Given the description of an element on the screen output the (x, y) to click on. 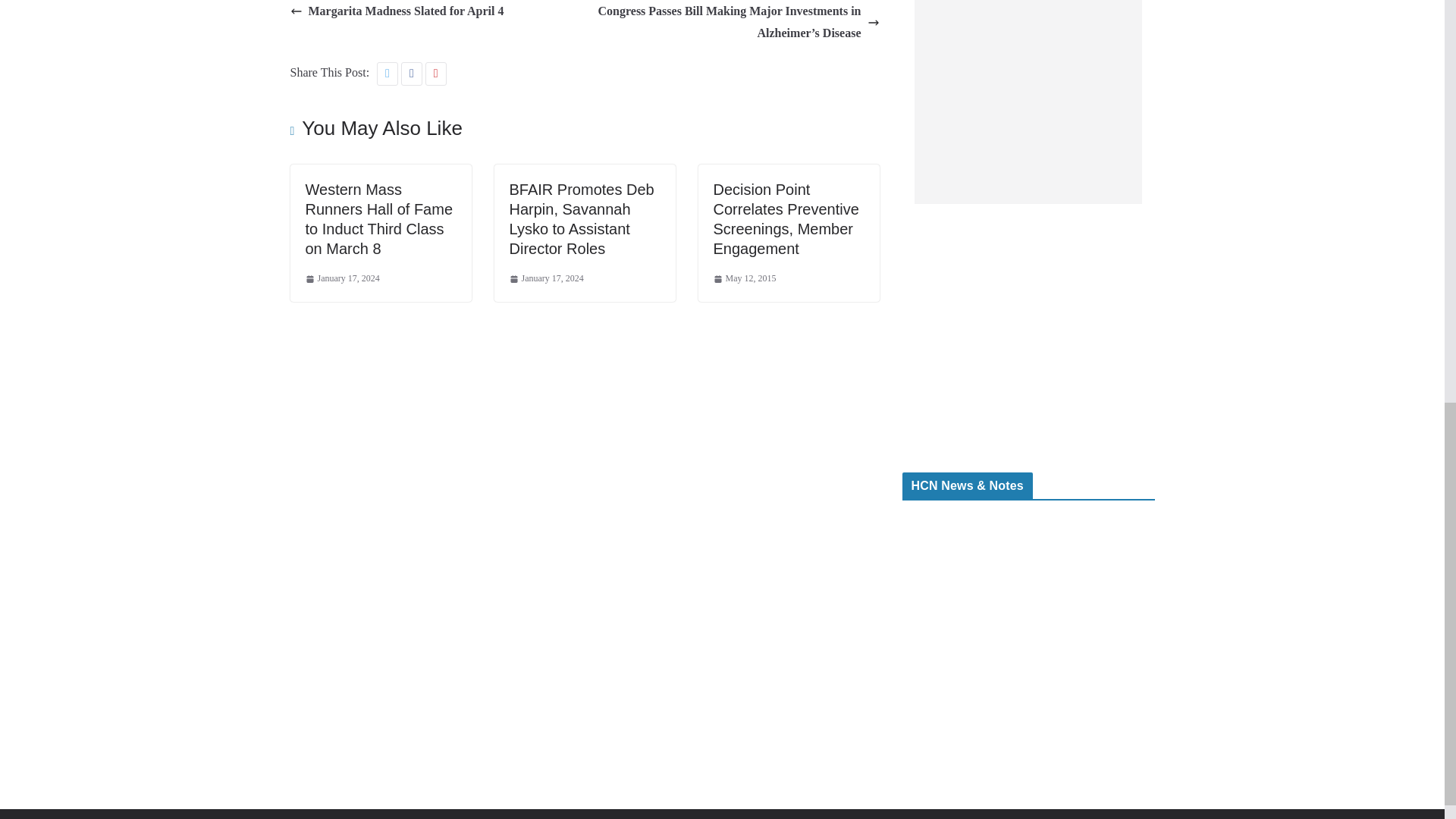
8:17 am (546, 279)
January 17, 2024 (341, 279)
Margarita Madness Slated for April 4 (396, 11)
8:16 am (341, 279)
